Given the description of an element on the screen output the (x, y) to click on. 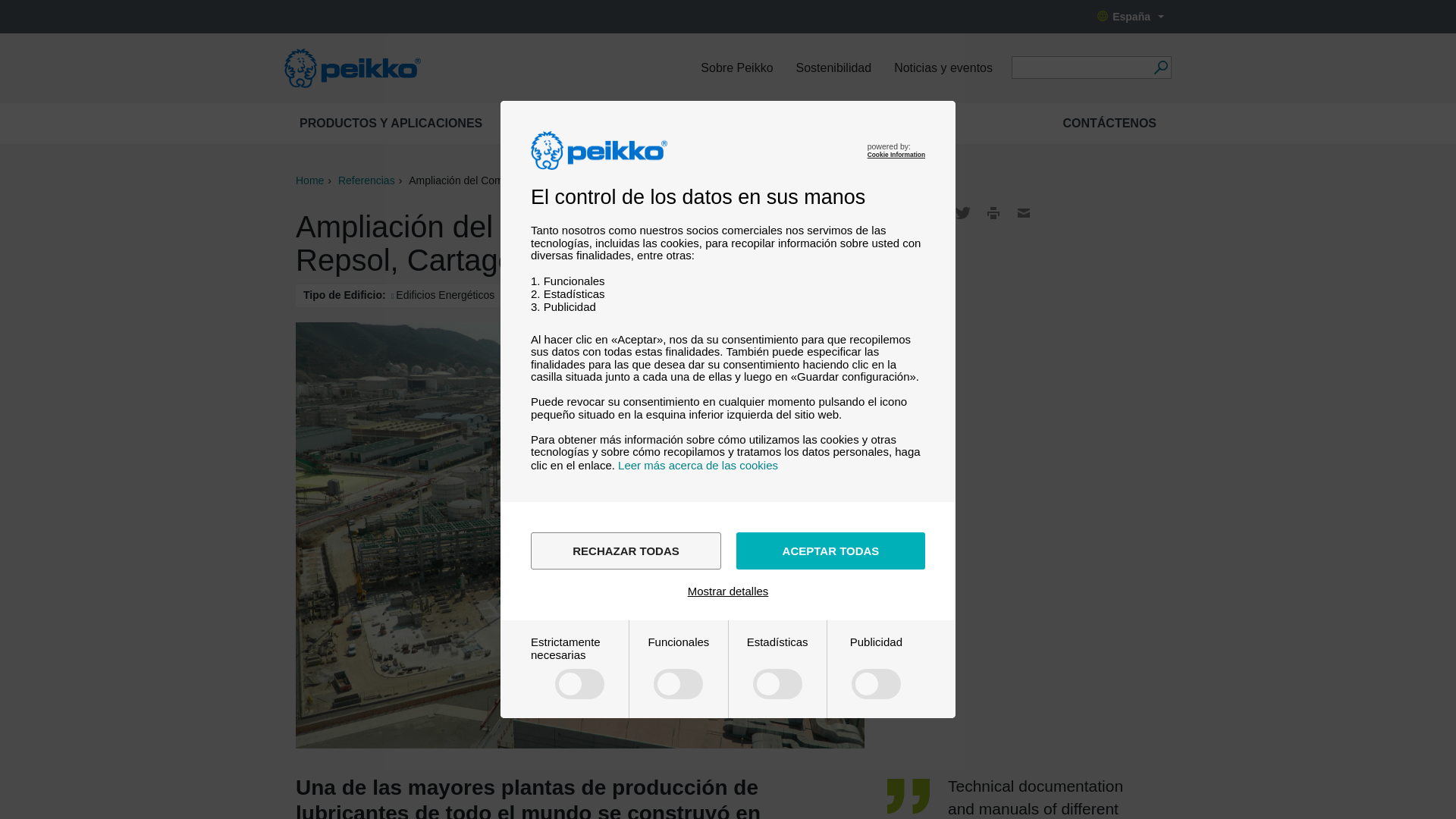
ACEPTAR TODAS (830, 550)
Mostrar detalles (727, 590)
Email link (1023, 212)
RECHAZAR TODAS (625, 550)
Cookie Information (895, 154)
